Given the description of an element on the screen output the (x, y) to click on. 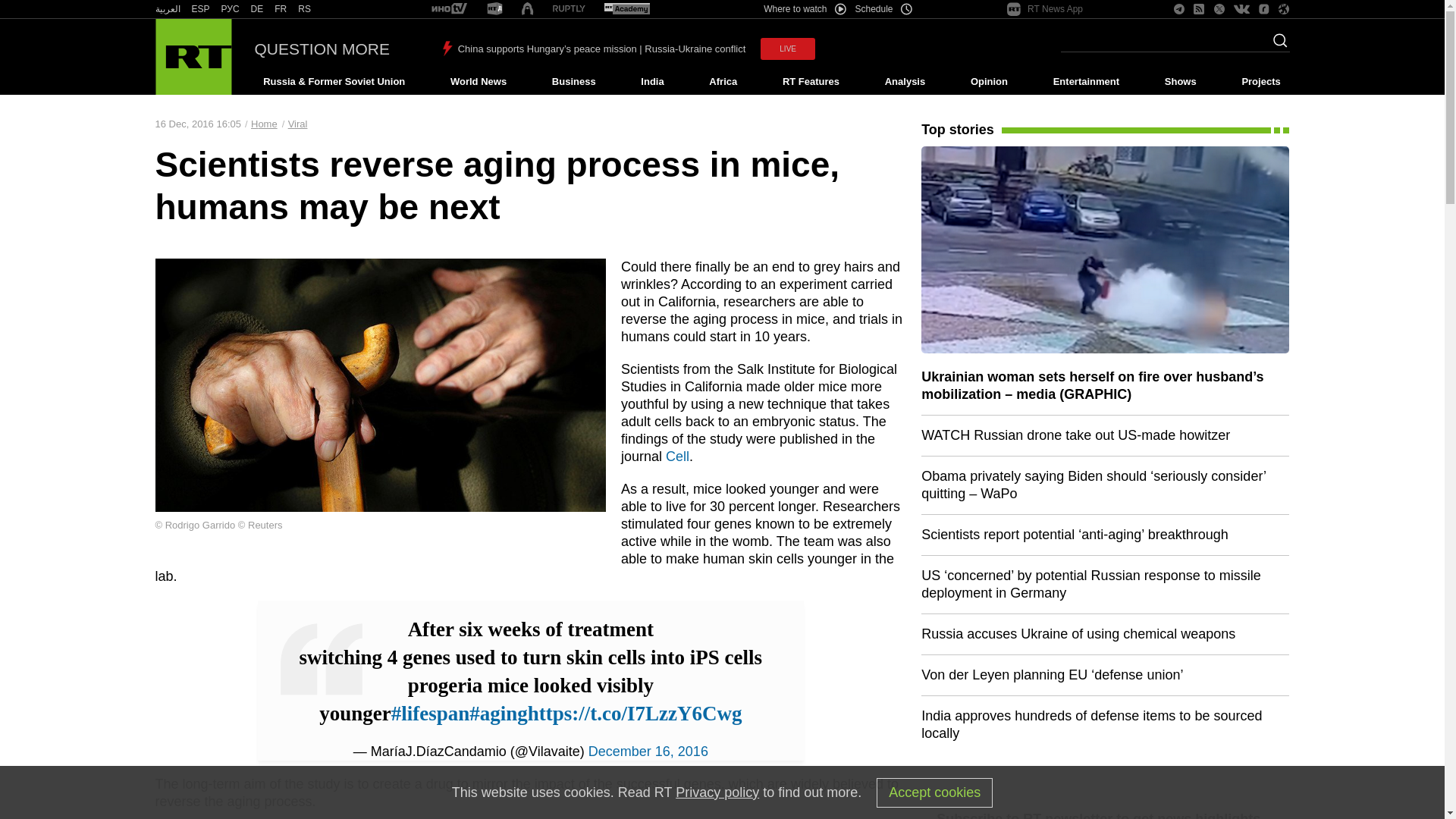
India (651, 81)
Where to watch (803, 9)
RT  (304, 9)
Business (573, 81)
Shows (1180, 81)
RT  (569, 8)
RS (304, 9)
Entertainment (1085, 81)
Opinion (988, 81)
RT  (256, 9)
Projects (1261, 81)
ESP (199, 9)
RT  (230, 9)
Analysis (905, 81)
Search (1276, 44)
